Given the description of an element on the screen output the (x, y) to click on. 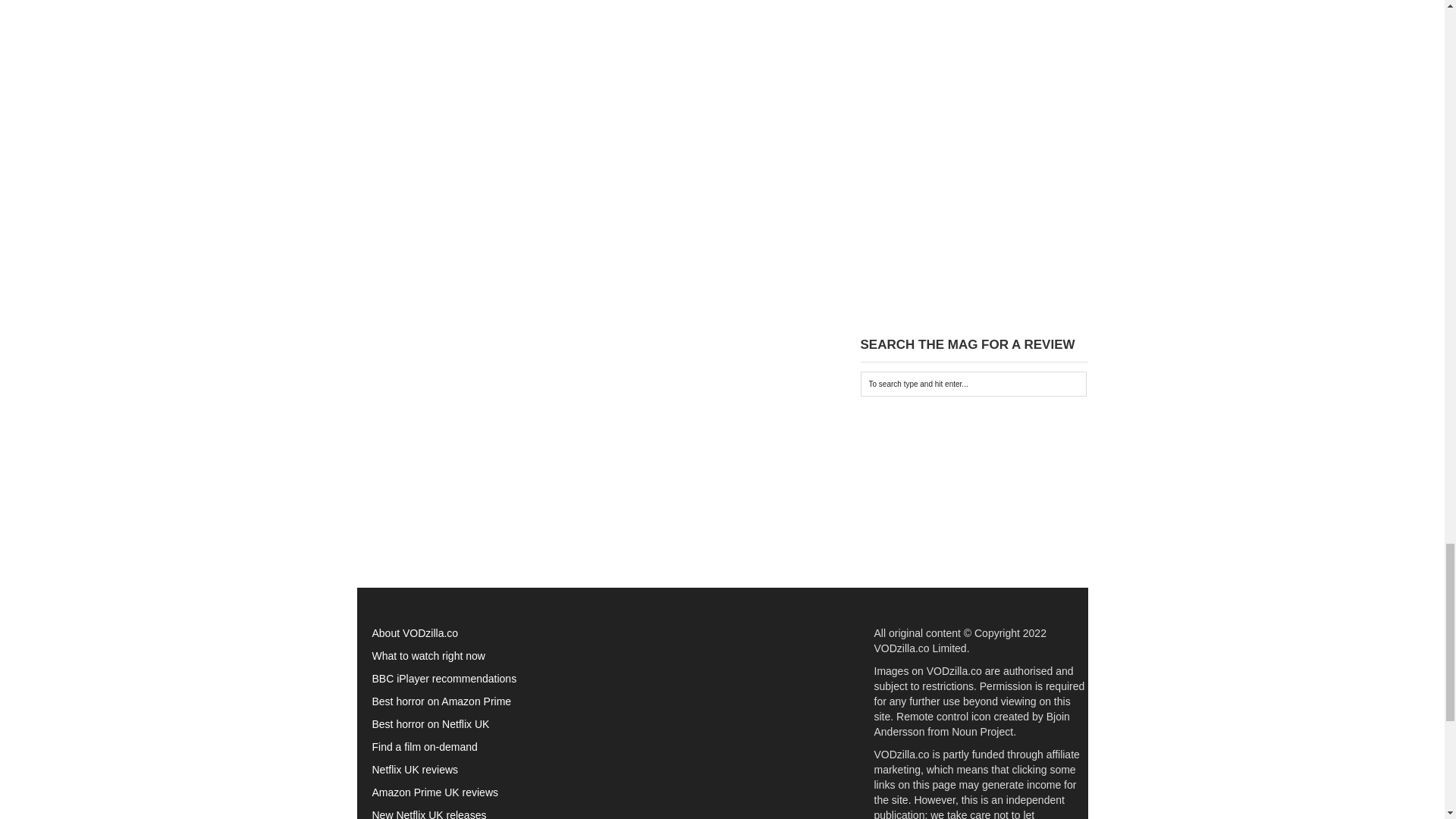
To search type and hit enter... (973, 383)
